Given the description of an element on the screen output the (x, y) to click on. 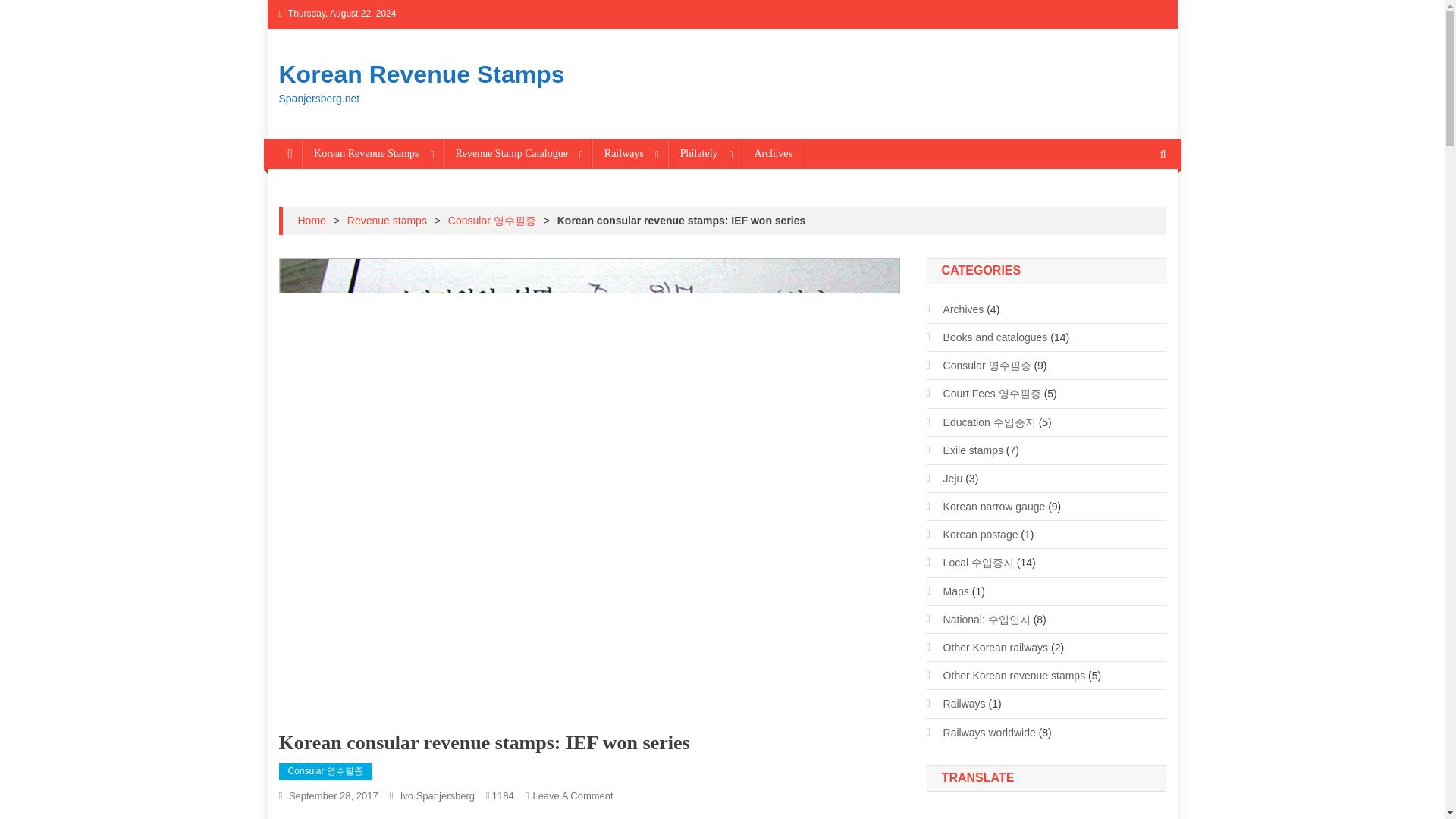
Ivo Spanjersberg (437, 795)
Archives (773, 153)
Korean Revenue Stamps (371, 153)
Revenue stamps (386, 220)
Search (1133, 204)
Philately (704, 153)
Home (310, 220)
Railways (629, 153)
Revenue Stamp Catalogue (516, 153)
